Given the description of an element on the screen output the (x, y) to click on. 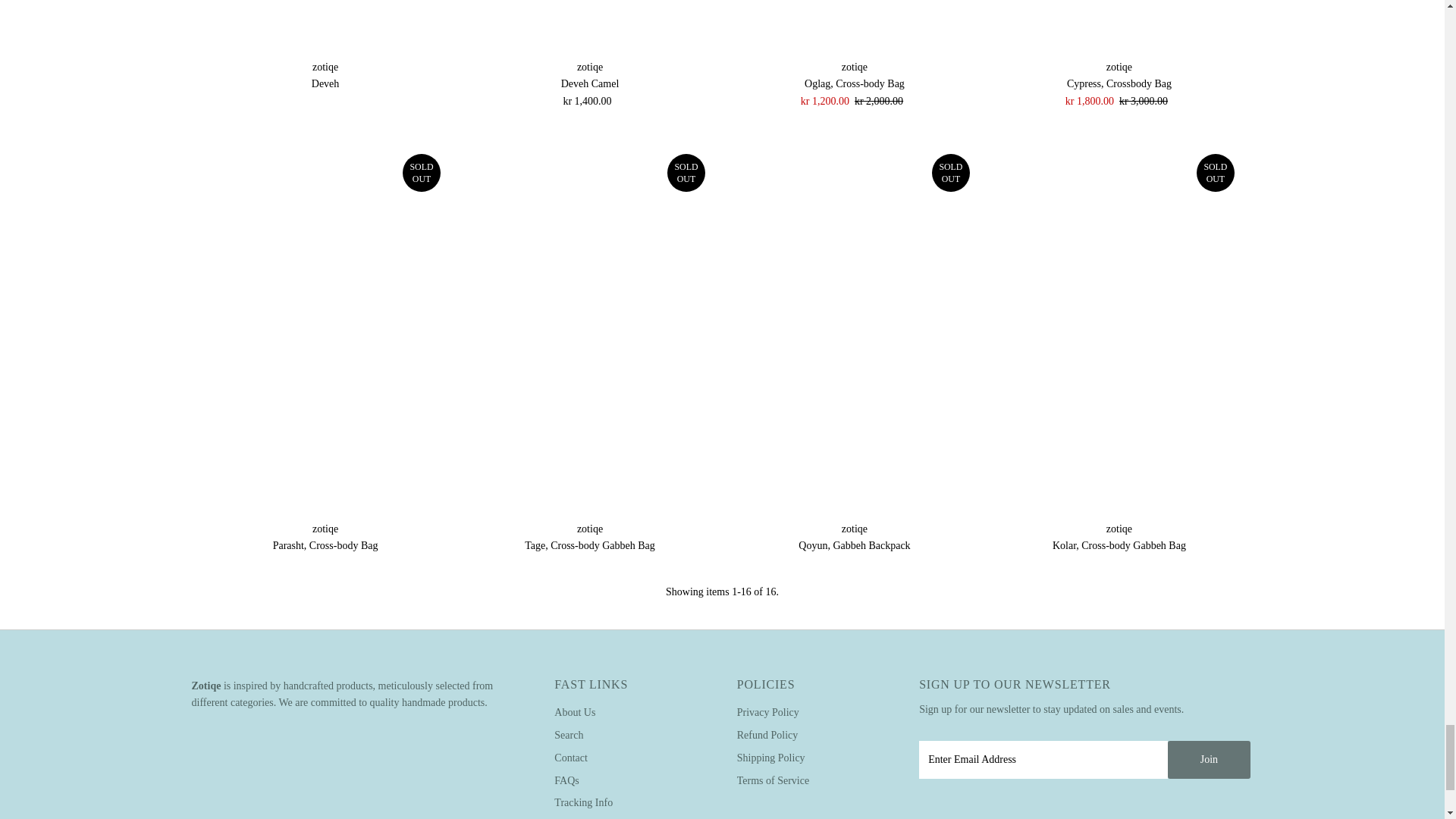
Deveh (325, 26)
Cypress, Crossbody Bag (1118, 26)
Deveh Camel (590, 26)
Oglag, Cross-body Bag (854, 26)
Join (1208, 759)
